Given the description of an element on the screen output the (x, y) to click on. 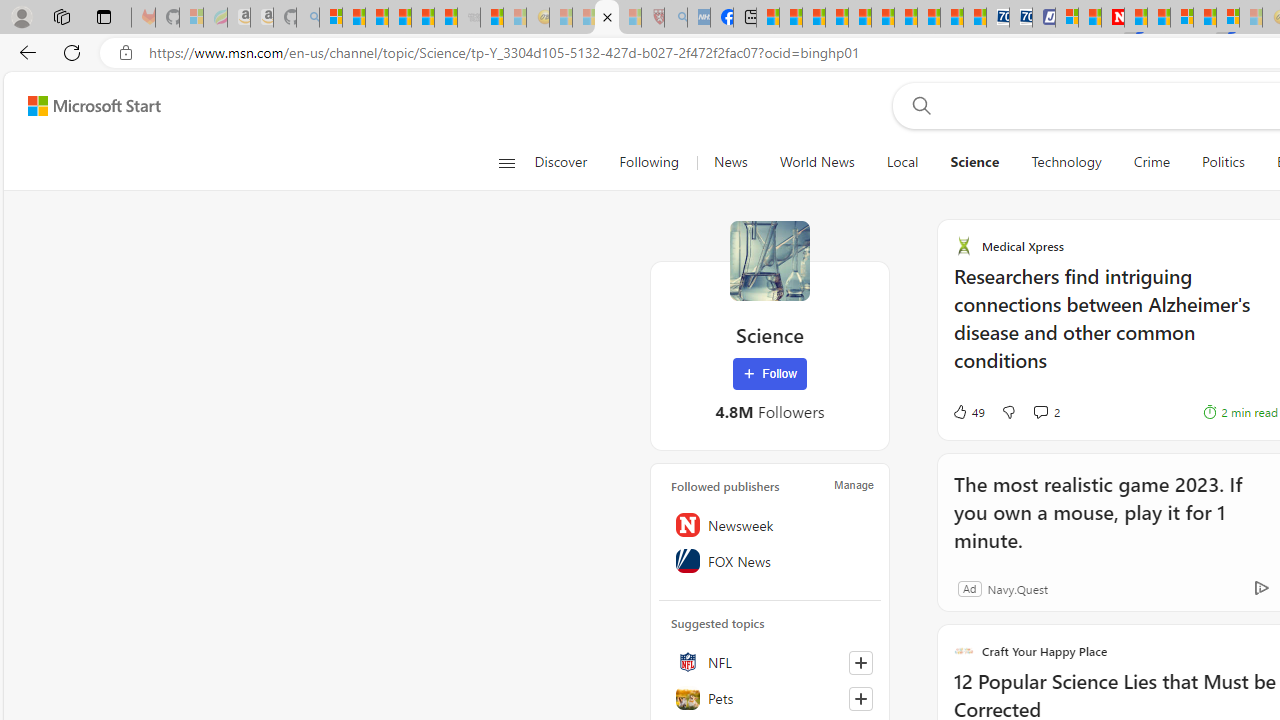
Cheap Hotels - Save70.com (1020, 17)
Latest Politics News & Archive | Newsweek.com (1112, 17)
New Report Confirms 2023 Was Record Hot | Watch (422, 17)
